Given the description of an element on the screen output the (x, y) to click on. 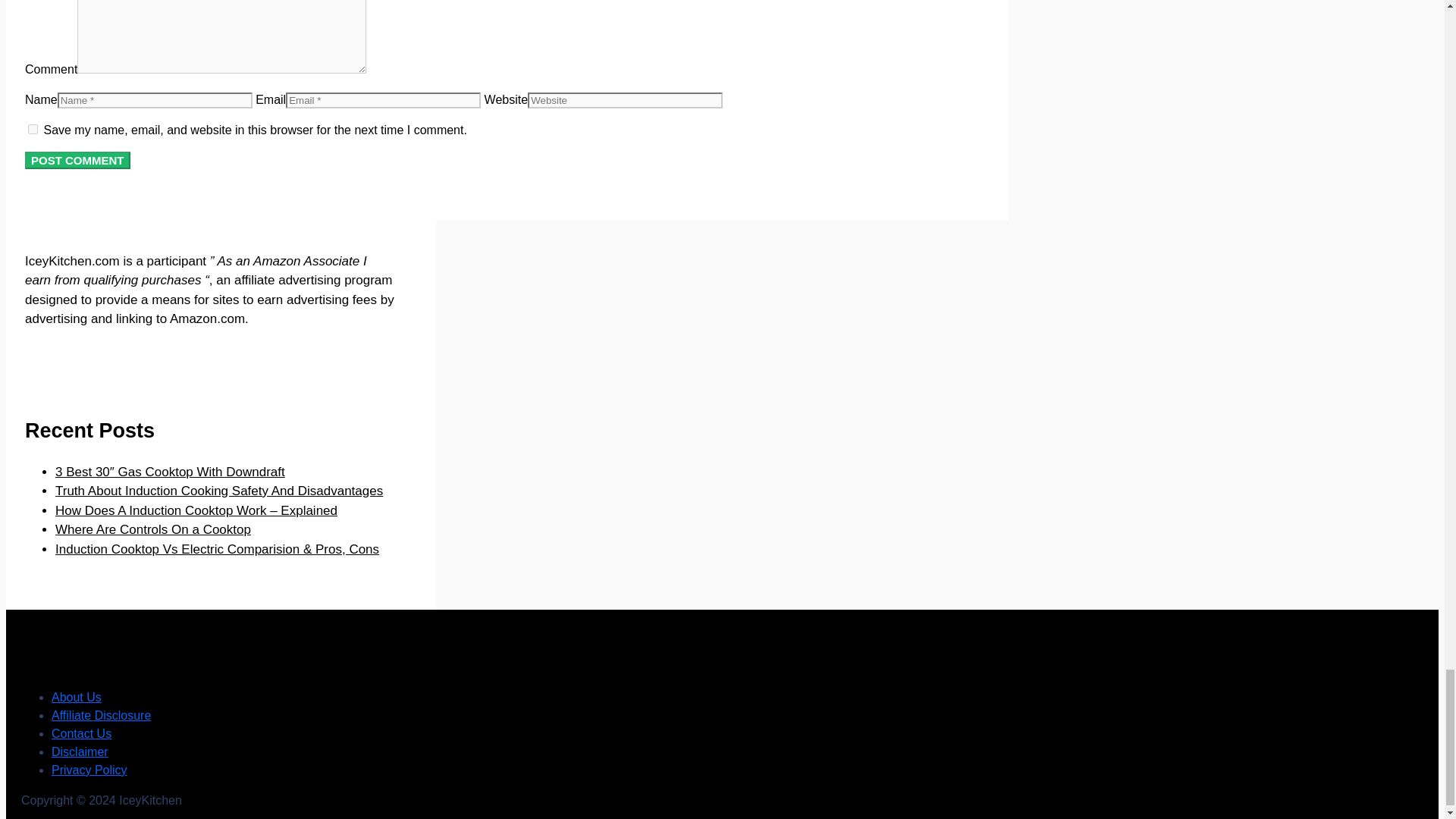
Post Comment (77, 159)
yes (32, 129)
Post Comment (77, 159)
